Given the description of an element on the screen output the (x, y) to click on. 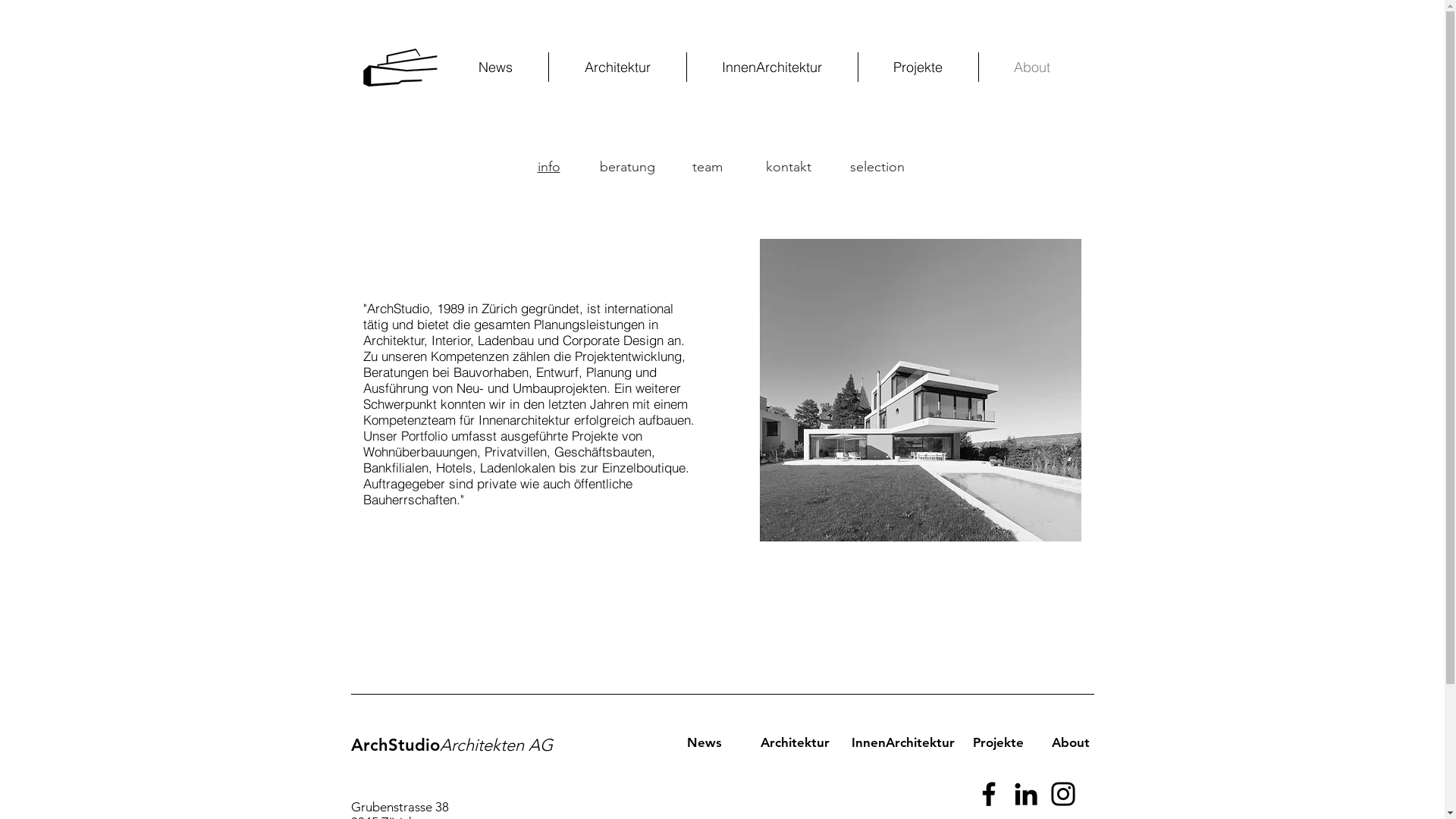
InnenArchitektur Element type: text (772, 66)
Projekte Element type: text (997, 741)
kontakt Element type: text (788, 162)
Projekte Element type: text (918, 66)
Architektur Element type: text (617, 66)
About Element type: text (1069, 741)
team Element type: text (706, 162)
selection Element type: text (876, 165)
News Element type: text (704, 741)
beratung Element type: text (626, 165)
InnenArchitektur Element type: text (901, 741)
Architektur Element type: text (793, 741)
info Element type: text (547, 162)
News Element type: text (495, 66)
About Element type: text (1031, 66)
ArchStudioArchitekten AG Element type: text (451, 744)
